Given the description of an element on the screen output the (x, y) to click on. 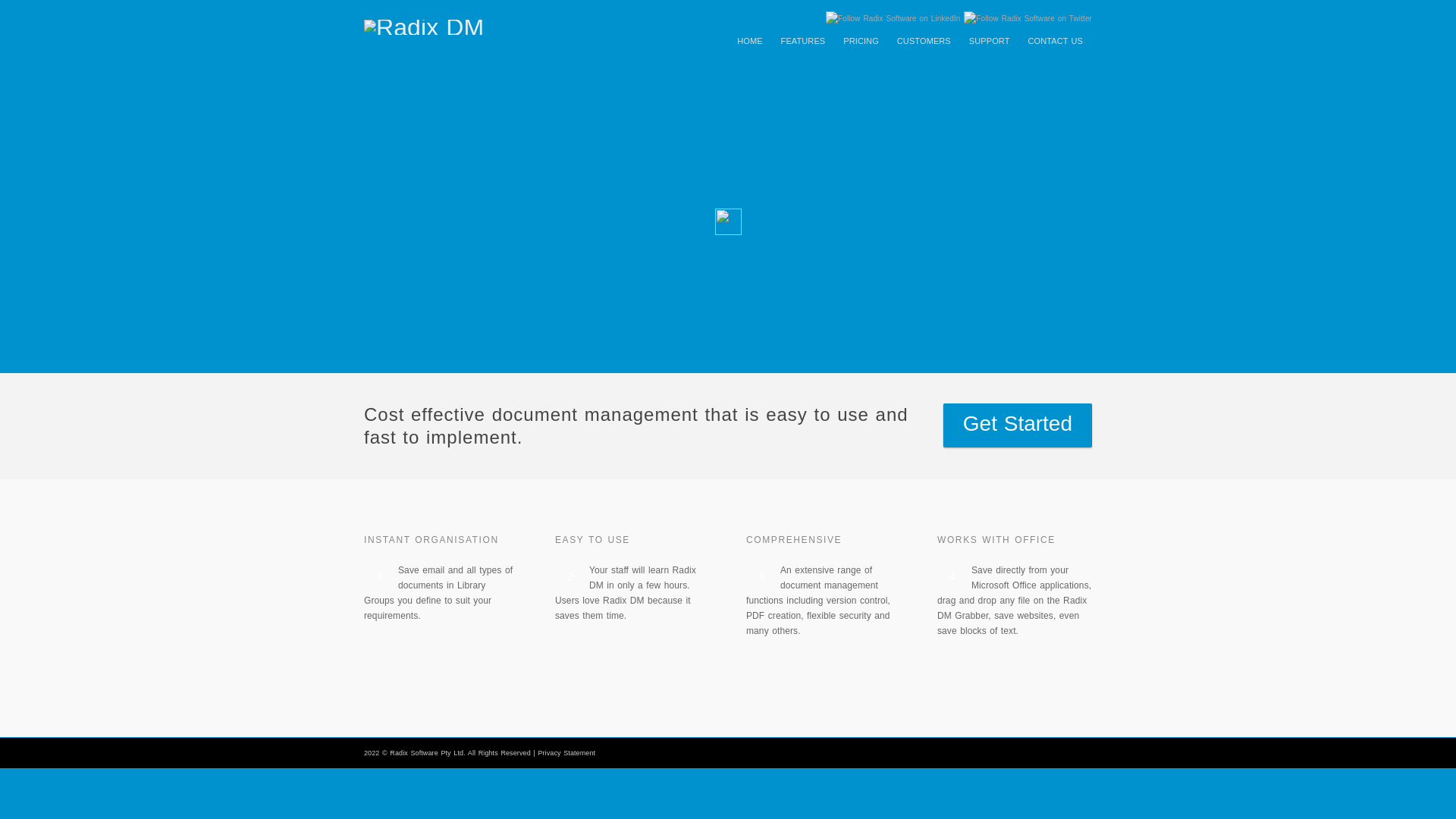
CONTACT US (1056, 41)
FEATURES (802, 41)
HOME (749, 41)
PRICING (861, 41)
CUSTOMERS (923, 41)
SUPPORT (989, 41)
Get Started (1017, 425)
Privacy Statement (566, 752)
